Given the description of an element on the screen output the (x, y) to click on. 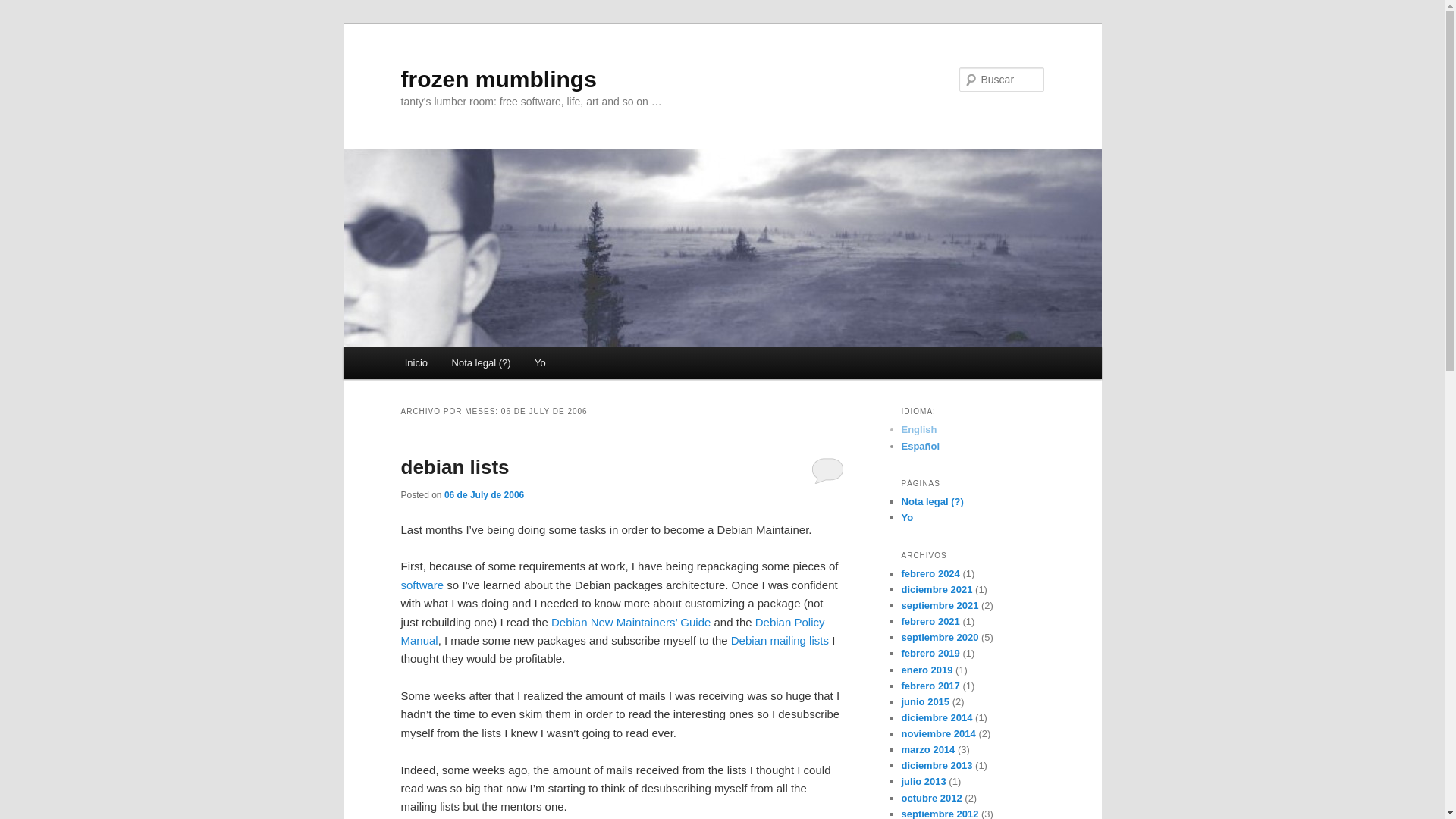
debian lists (454, 466)
06 de July de 2006 (484, 494)
Buscar (24, 8)
septiembre 2021 (939, 604)
Debian mailing lists (779, 640)
septiembre 2020 (939, 636)
frozen mumblings (497, 78)
Debian Policy Manual (612, 631)
software (422, 584)
19:28 hrs. (484, 494)
Yo (906, 517)
English (918, 429)
febrero 2021 (930, 621)
Yo (539, 362)
